Given the description of an element on the screen output the (x, y) to click on. 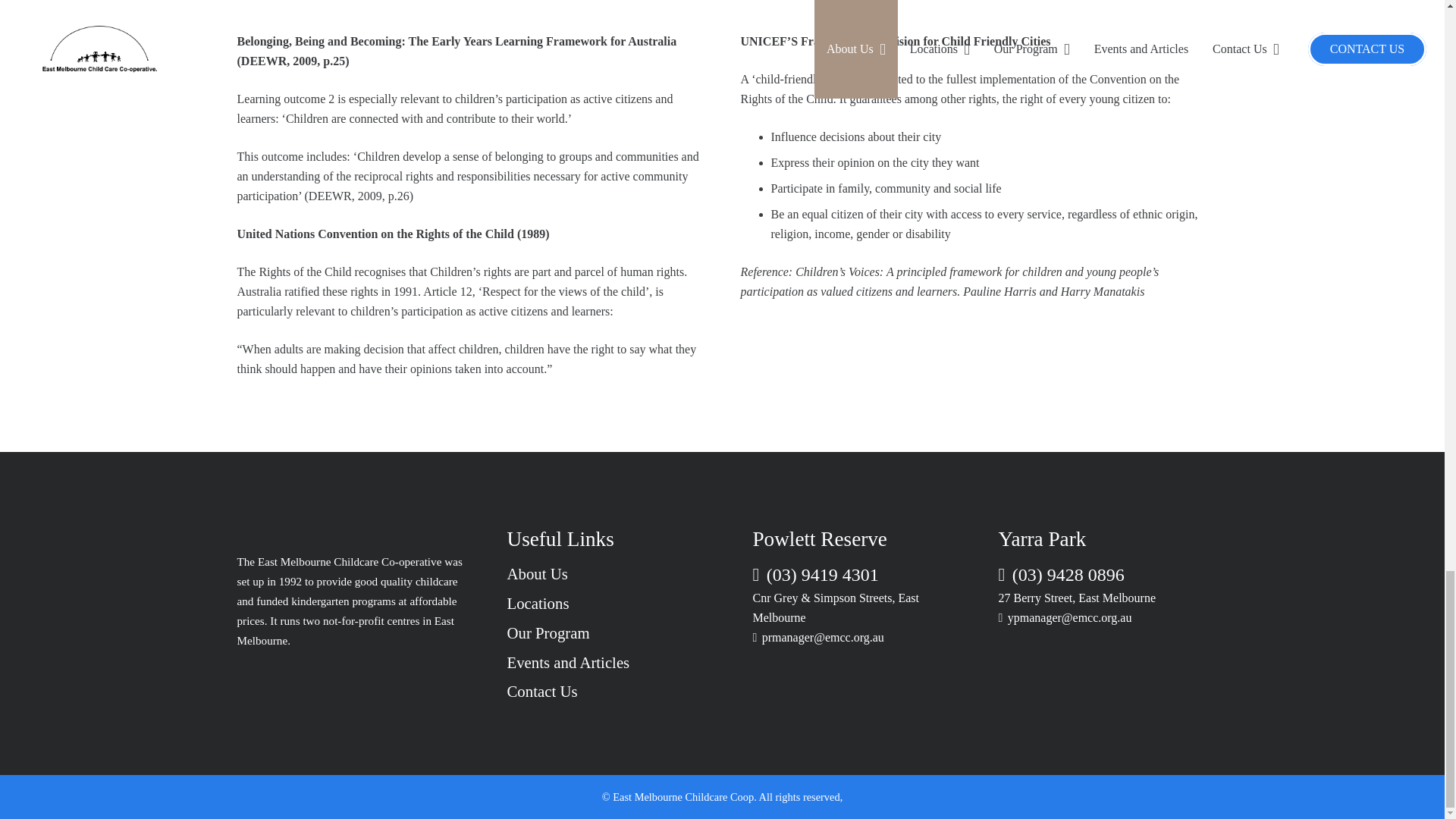
Yarra Park (1041, 538)
Our Program (547, 632)
About Us (536, 573)
Powlett Reserve (819, 538)
Locations (537, 602)
Contact Us (541, 691)
Events and Articles (567, 661)
